Given the description of an element on the screen output the (x, y) to click on. 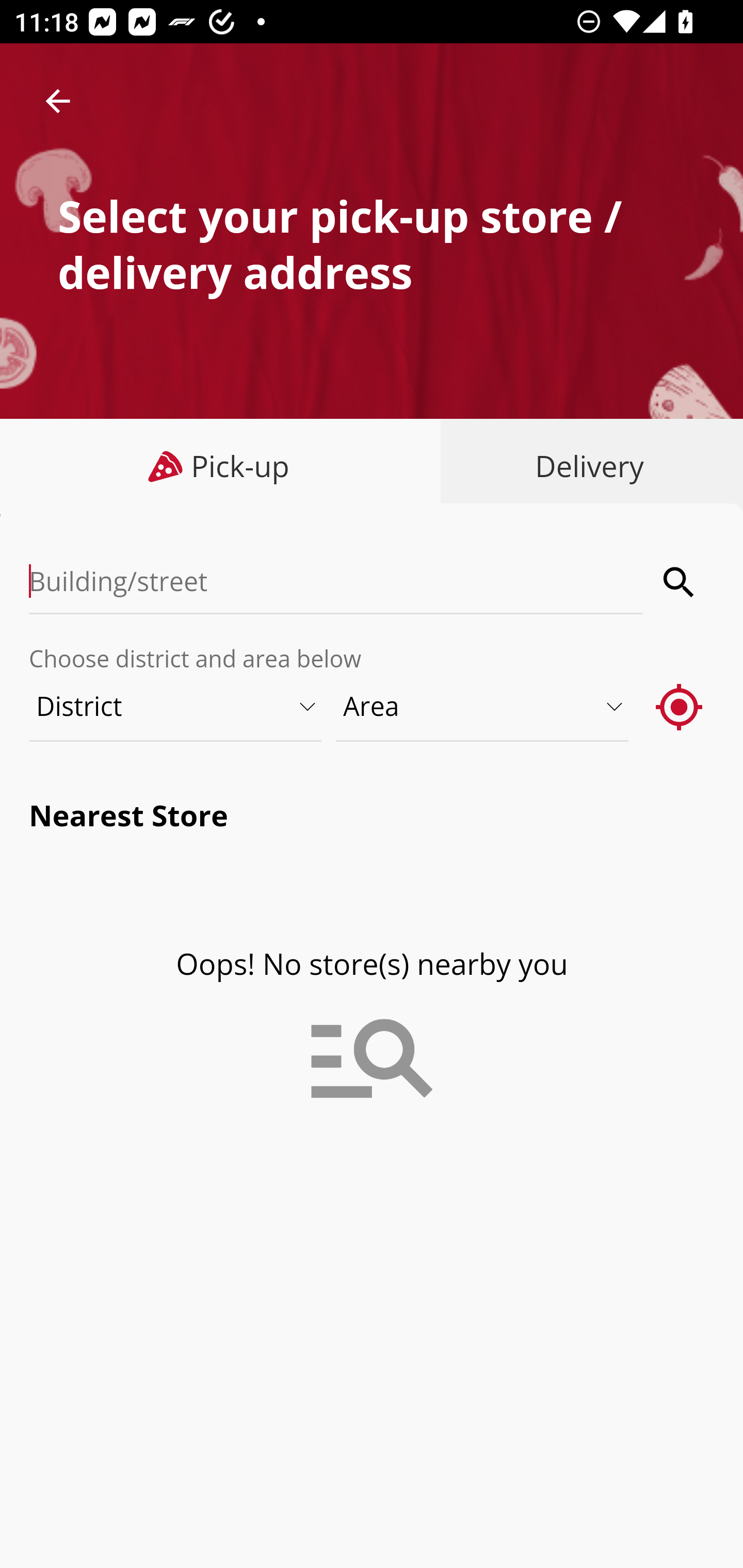
arrow_back (58, 100)
prev next Pick-up Delivery (371, 467)
Delivery (585, 466)
search (679, 582)
gps_fixed (679, 706)
District (175, 706)
Area (482, 706)
